Given the description of an element on the screen output the (x, y) to click on. 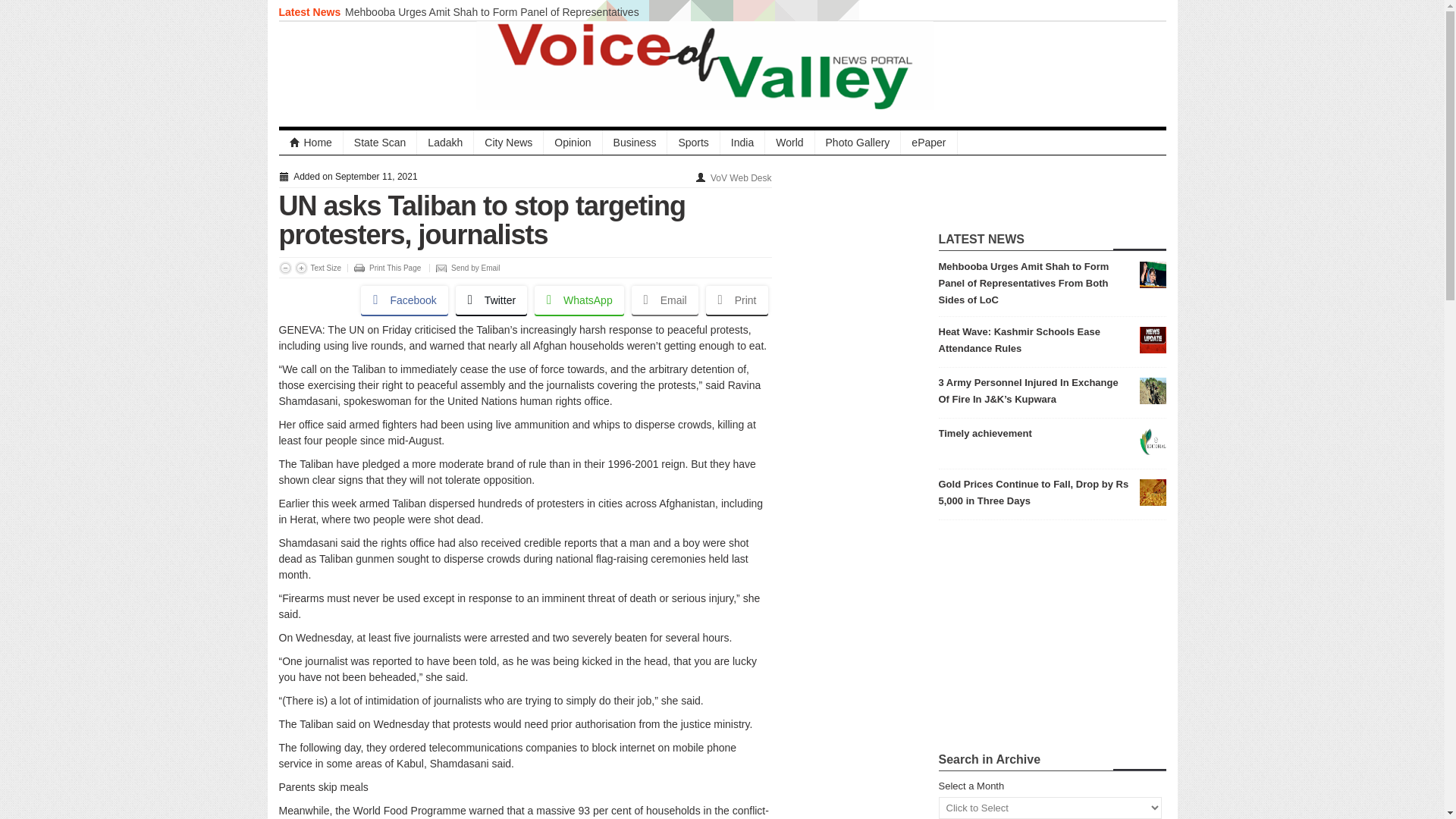
Opinion (572, 142)
WhatsApp (579, 299)
Business (635, 142)
Daily Newspaper from Kashmir (311, 142)
Send by Email (464, 267)
Email (664, 299)
Print This Page (383, 267)
India (742, 142)
State Scan (380, 142)
Home (311, 142)
Voice of Valley (722, 65)
Photo Gallery (858, 142)
VoV Web Desk (740, 177)
